Given the description of an element on the screen output the (x, y) to click on. 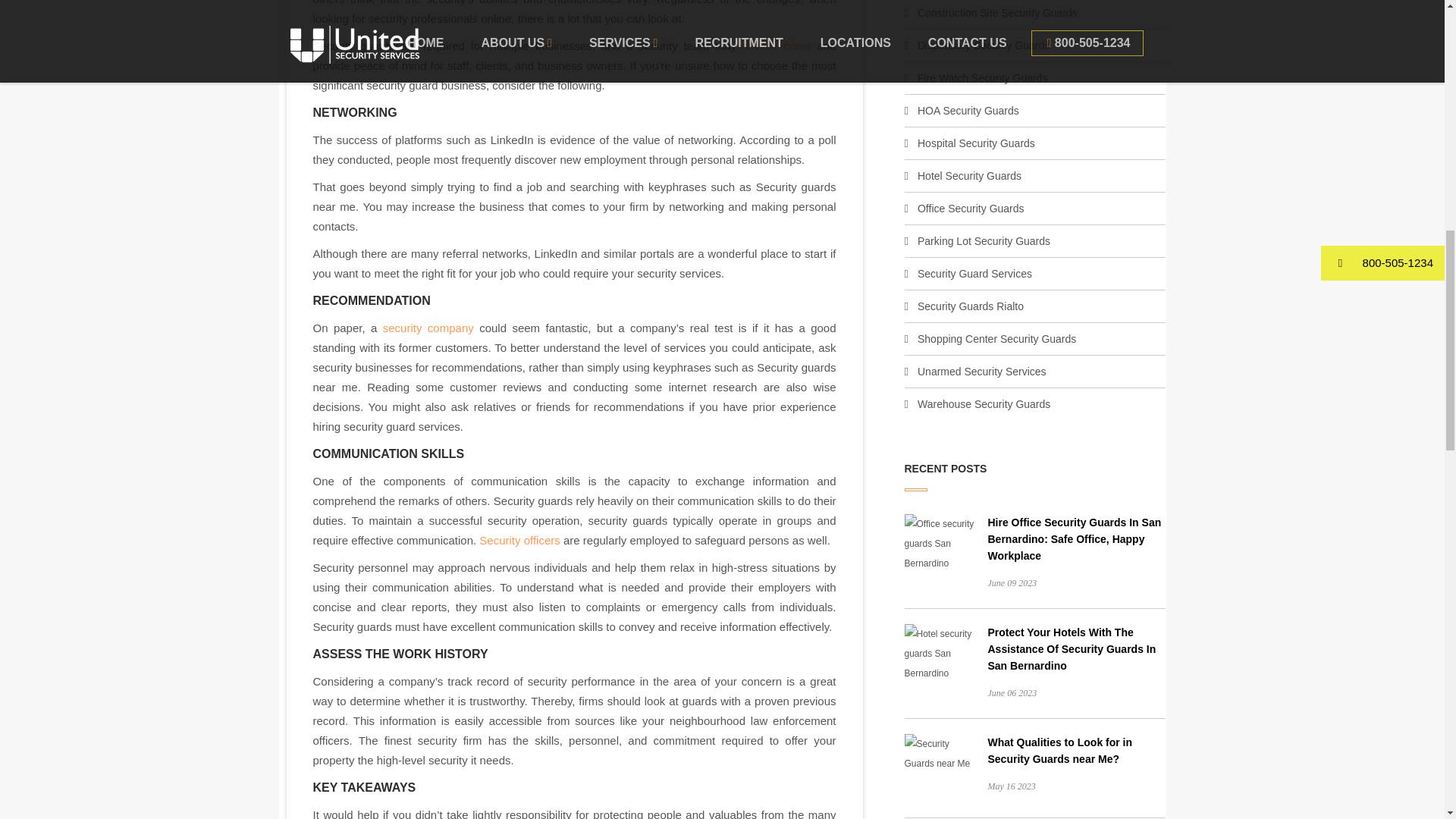
Dispensary Security Guards (983, 45)
Security officers (519, 540)
reduce crime (776, 45)
Construction Site Security Guards (997, 12)
Fire Watch Security Guards (981, 78)
Hospital Security Guards (976, 143)
security company (428, 327)
HOA Security Guards (968, 110)
